Given the description of an element on the screen output the (x, y) to click on. 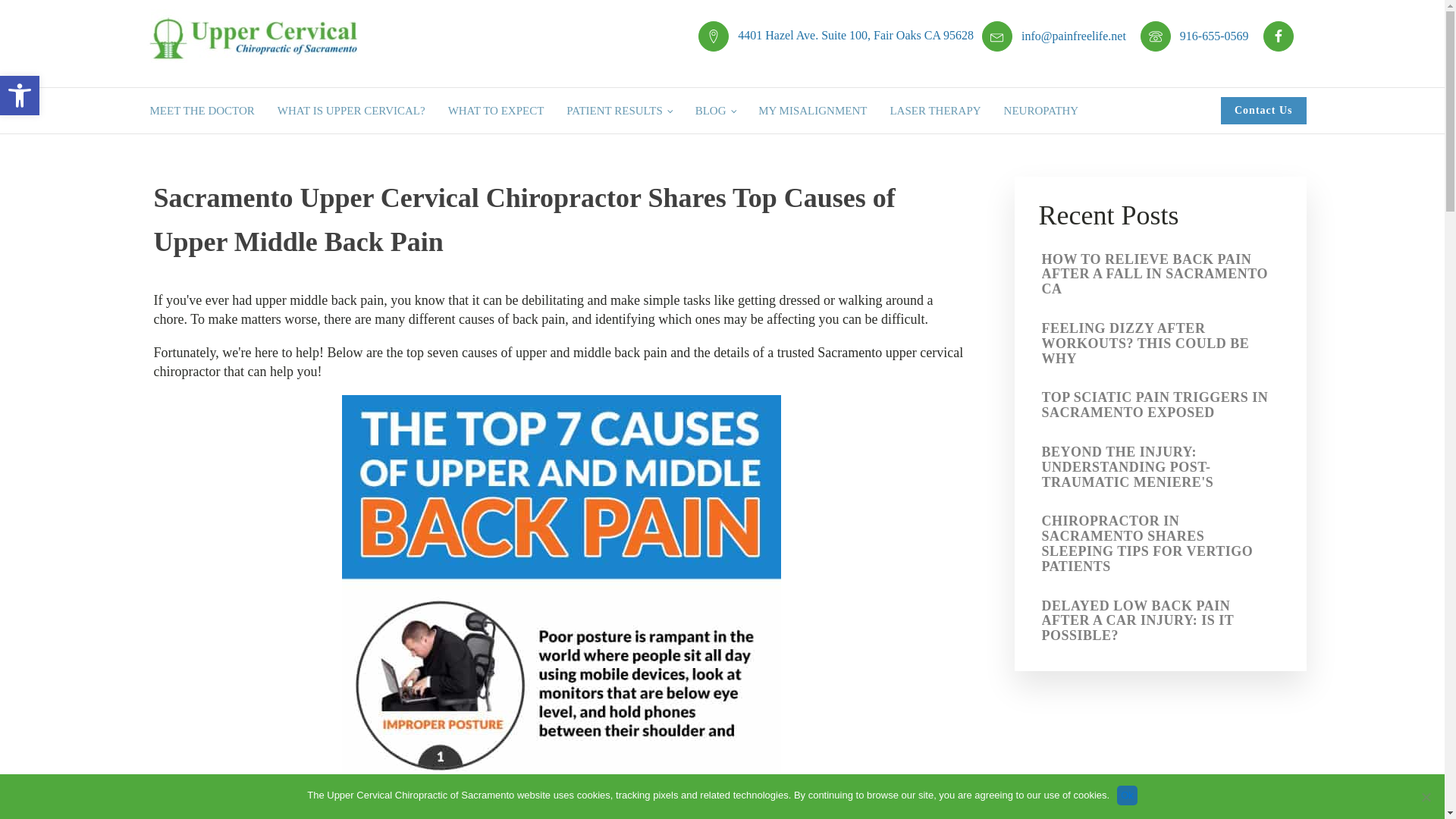
BLOG (19, 95)
Reset (716, 110)
Light Background (1160, 274)
TOP SCIATIC PAIN TRIGGERS IN SACRAMENTO EXPOSED (19, 95)
Grayscale (1160, 405)
